Given the description of an element on the screen output the (x, y) to click on. 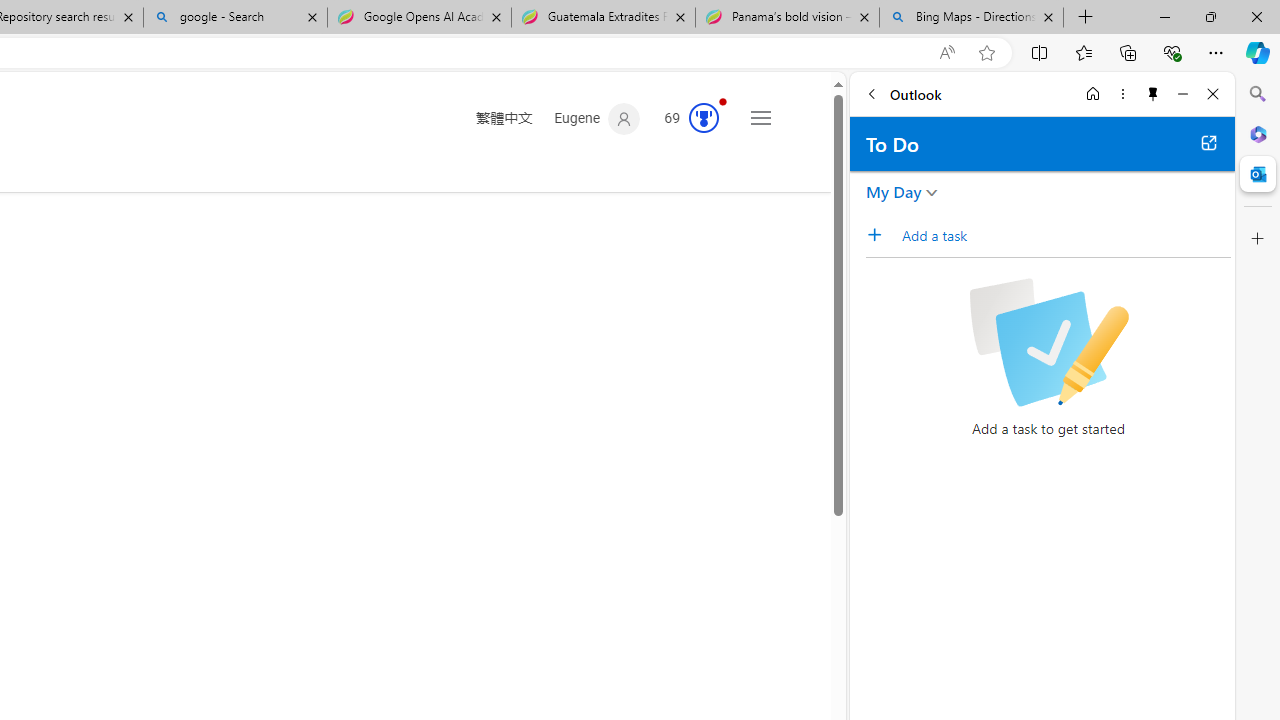
Add a task (1065, 235)
Add this page to favorites (Ctrl+D) (986, 53)
More options (1122, 93)
Google Opens AI Academy for Startups - Nearshore Americas (418, 17)
Minimize (1182, 93)
Close tab (1048, 16)
My Day (893, 191)
Microsoft Rewards 66 (685, 119)
Checkbox with a pencil (1047, 342)
Copilot (Ctrl+Shift+.) (1258, 52)
Microsoft 365 (1258, 133)
Eugene (597, 119)
Home (1093, 93)
Search (1258, 94)
